Given the description of an element on the screen output the (x, y) to click on. 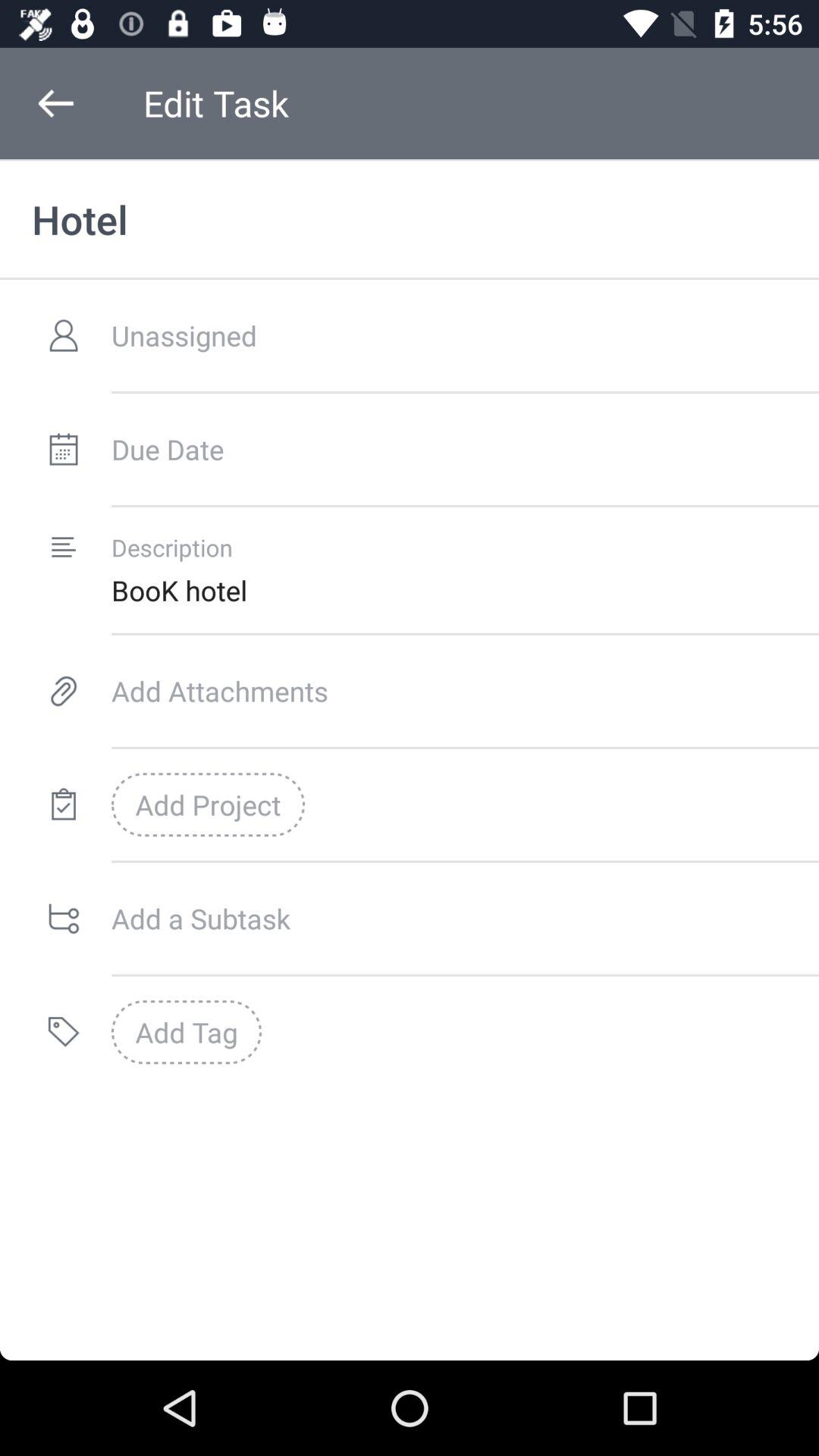
choose the icon to the left of edit task item (55, 103)
